Given the description of an element on the screen output the (x, y) to click on. 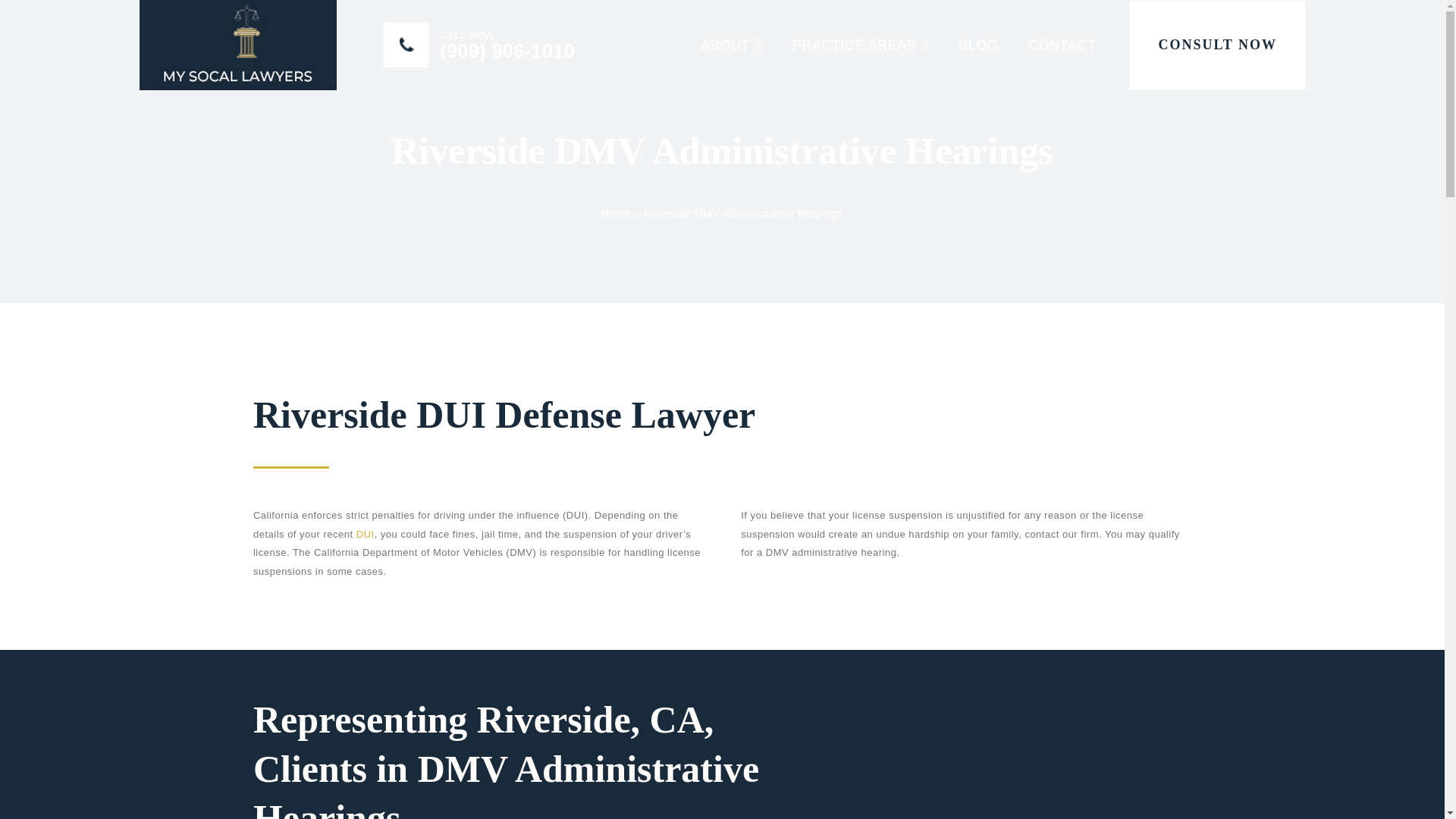
ABOUT (731, 45)
CONTACT (1061, 45)
PRACTICE AREAS (860, 45)
Home (615, 214)
BLOG (978, 45)
DUI (365, 533)
CONSULT NOW (1216, 44)
